Given the description of an element on the screen output the (x, y) to click on. 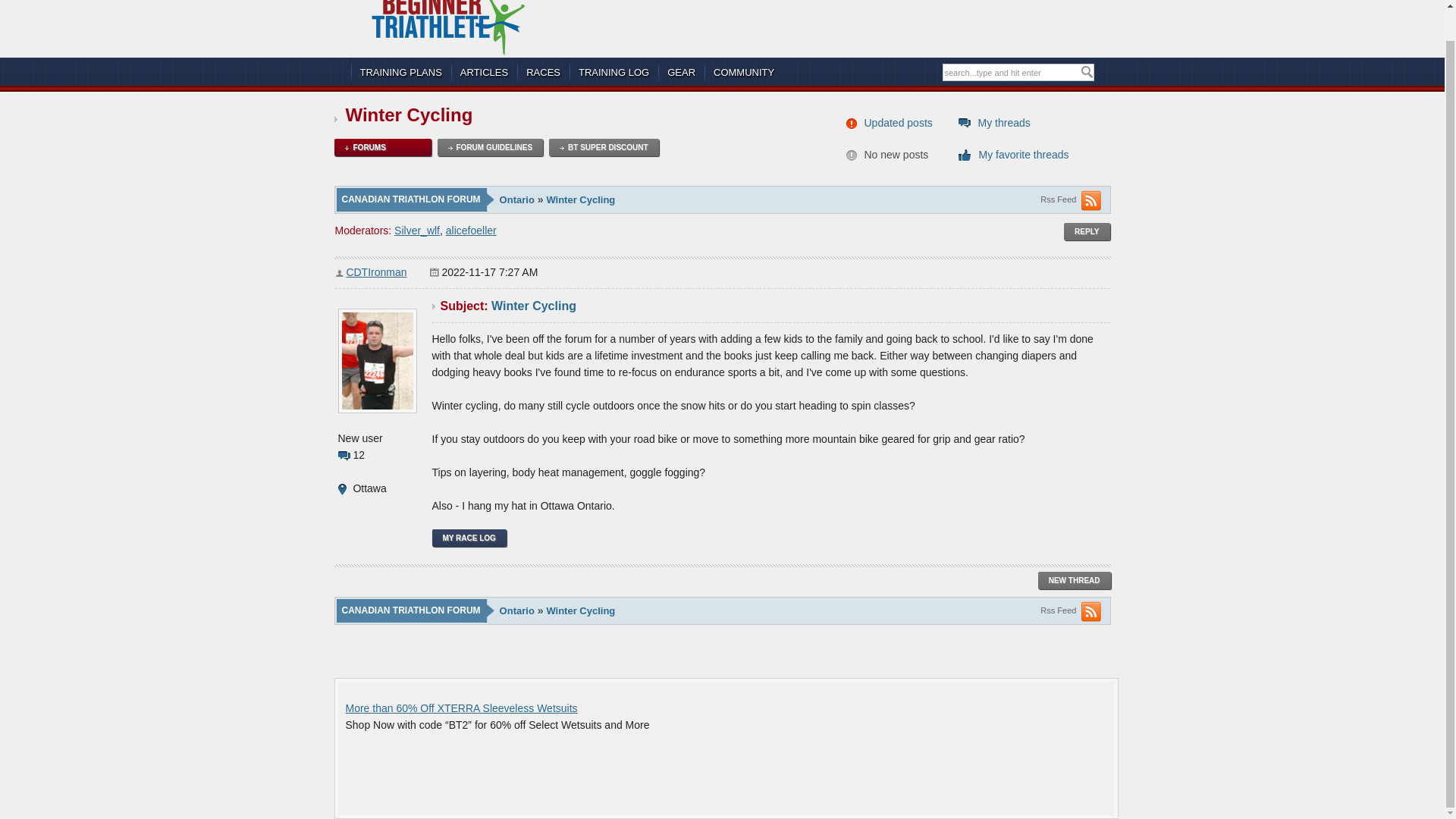
search...type and hit enter (1010, 72)
TRAINING PLANS (400, 72)
RACES (542, 72)
TRAINING LOG (613, 72)
ARTICLES (484, 72)
